Given the description of an element on the screen output the (x, y) to click on. 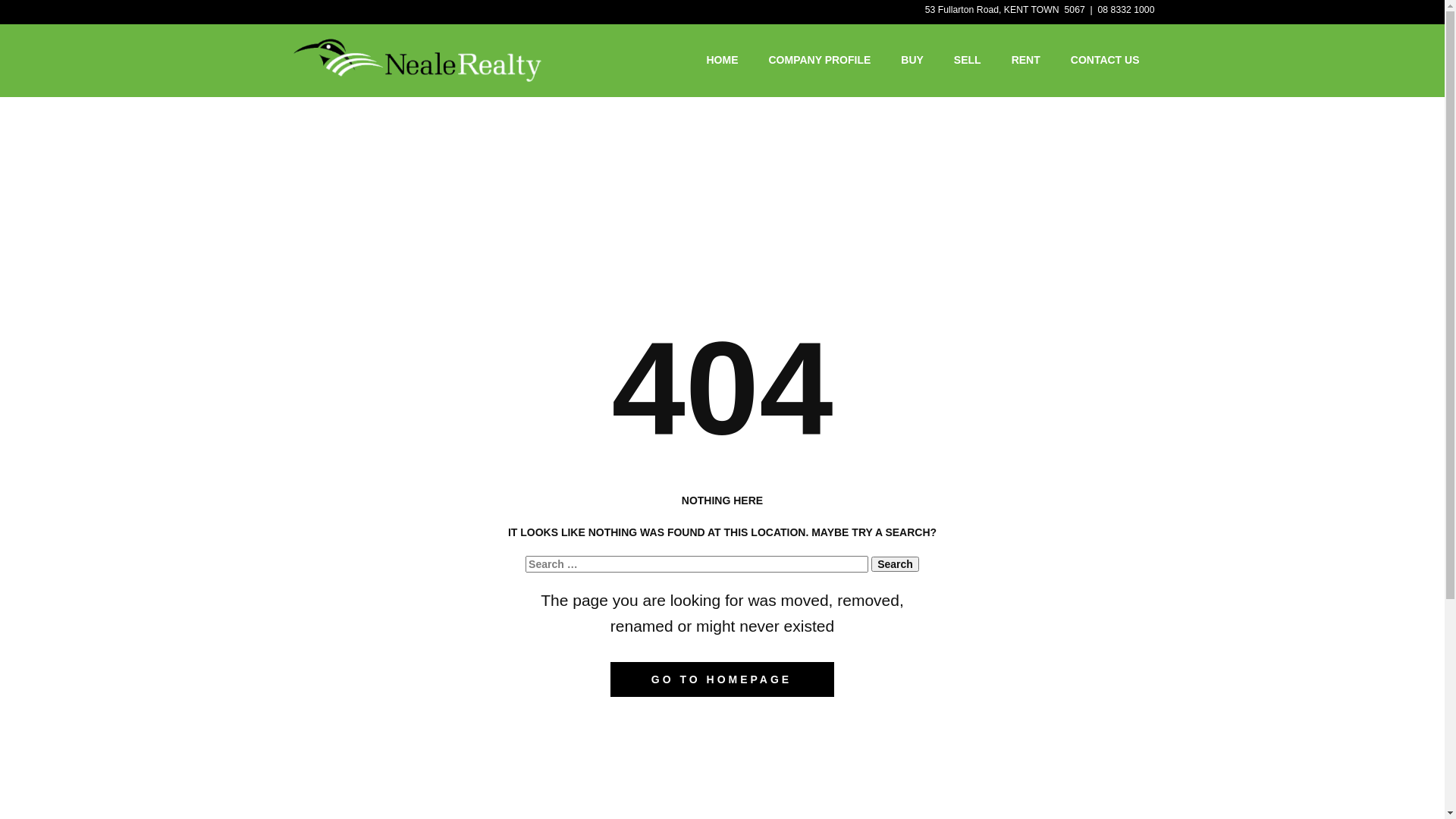
BUY Element type: text (911, 59)
GO TO HOMEPAGE Element type: text (722, 679)
SELL Element type: text (967, 59)
Search Element type: text (895, 563)
HOME Element type: text (721, 59)
Home Element type: hover (417, 60)
RENT Element type: text (1025, 59)
COMPANY PROFILE Element type: text (819, 59)
CONTACT US Element type: text (1104, 59)
